Given the description of an element on the screen output the (x, y) to click on. 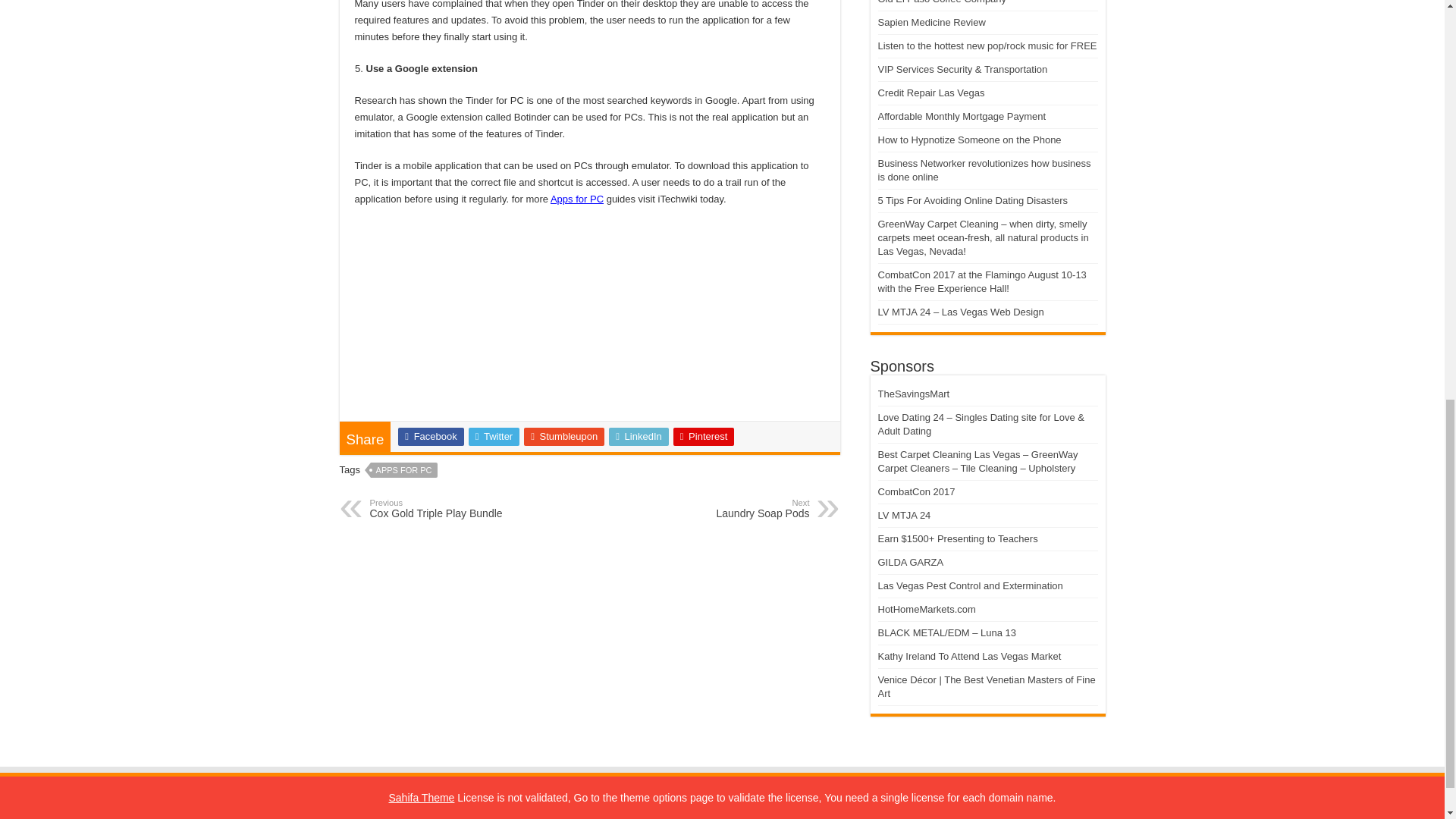
LinkedIn (447, 508)
Stumbleupon (638, 436)
Facebook (564, 436)
Apps for PC (430, 436)
APPS FOR PC (577, 198)
Pinterest (731, 508)
Twitter (404, 469)
